Given the description of an element on the screen output the (x, y) to click on. 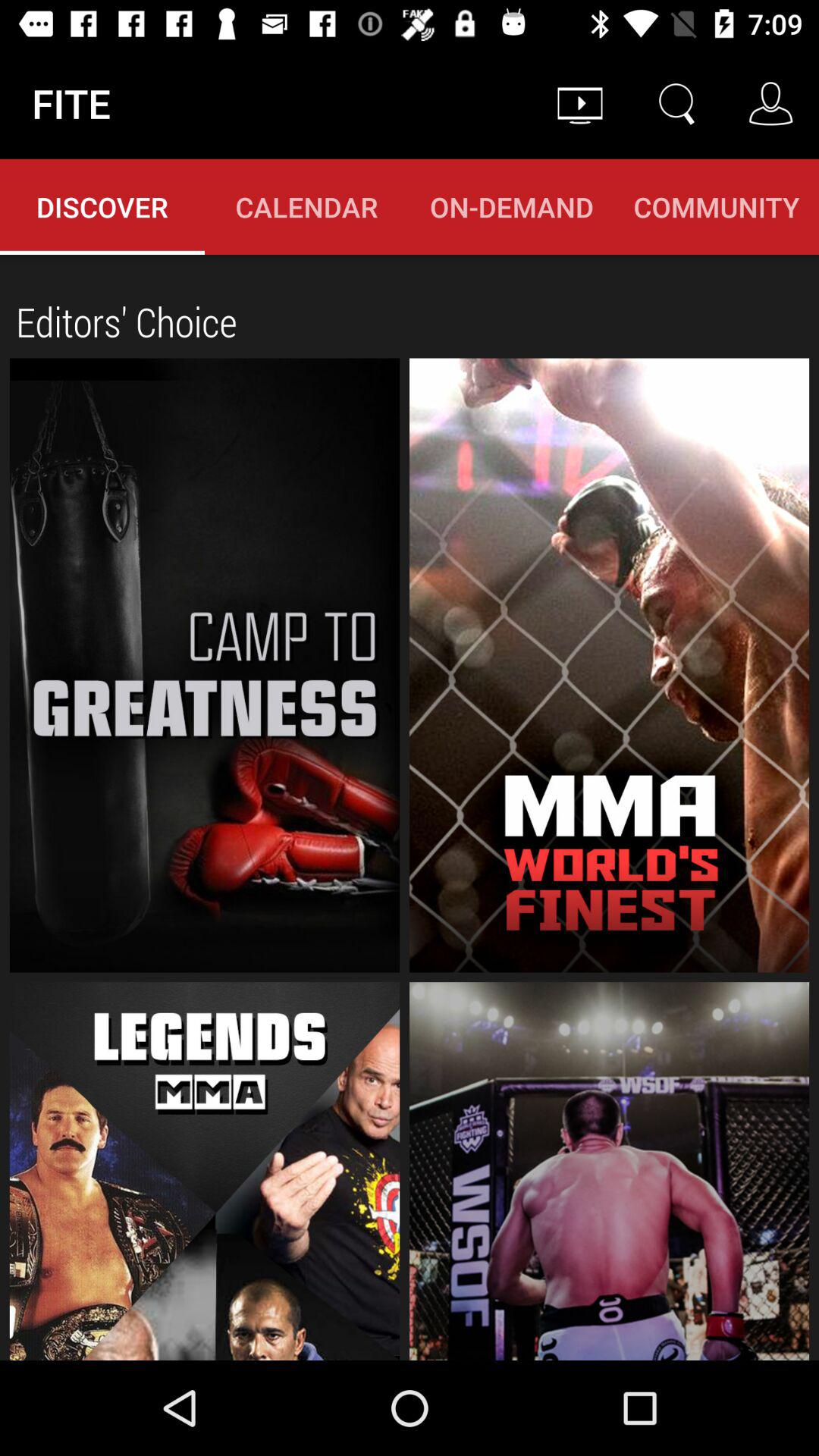
choose the icon above community item (771, 103)
